Given the description of an element on the screen output the (x, y) to click on. 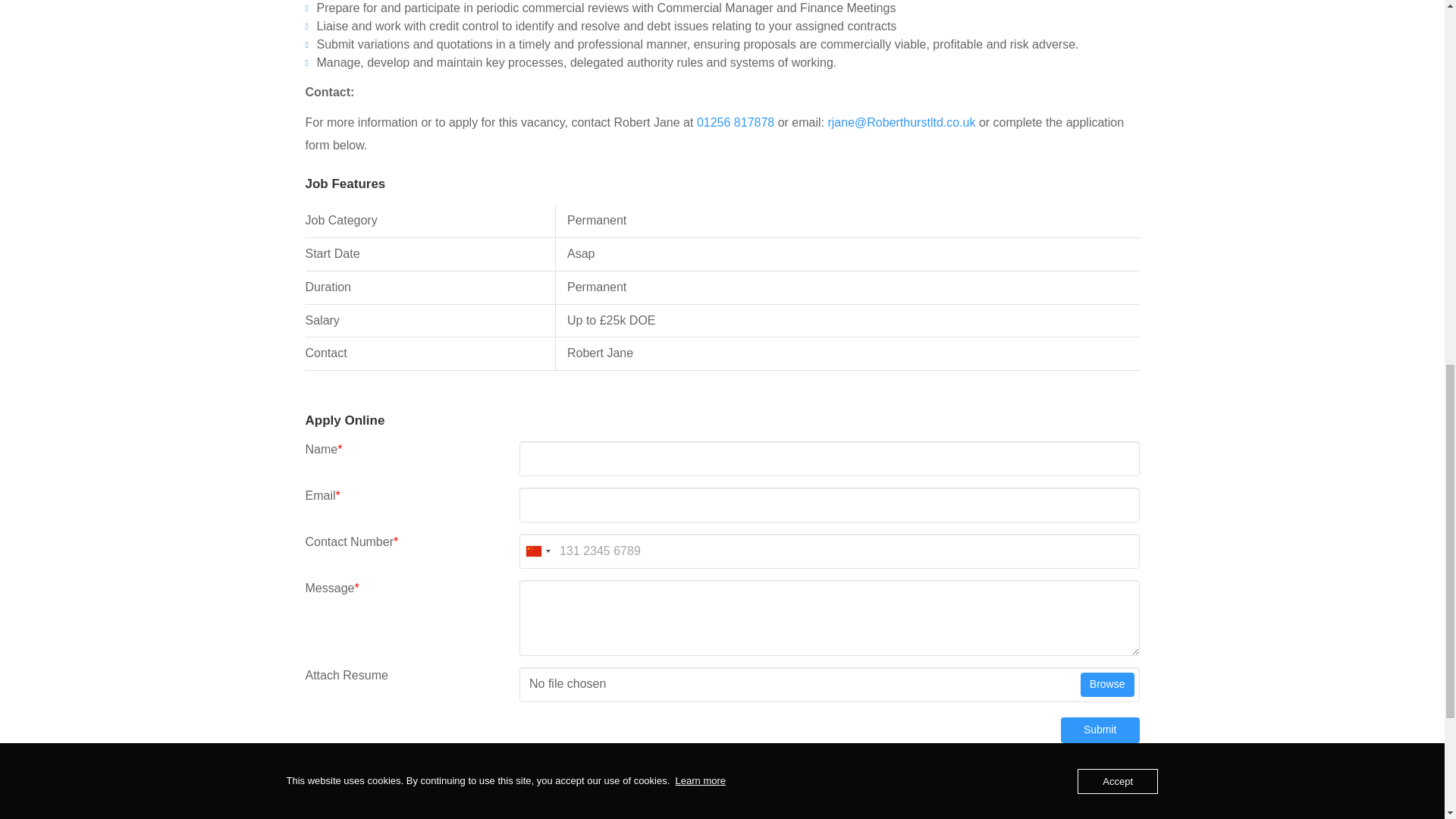
Submit (1100, 729)
01256 817878 (735, 122)
